Given the description of an element on the screen output the (x, y) to click on. 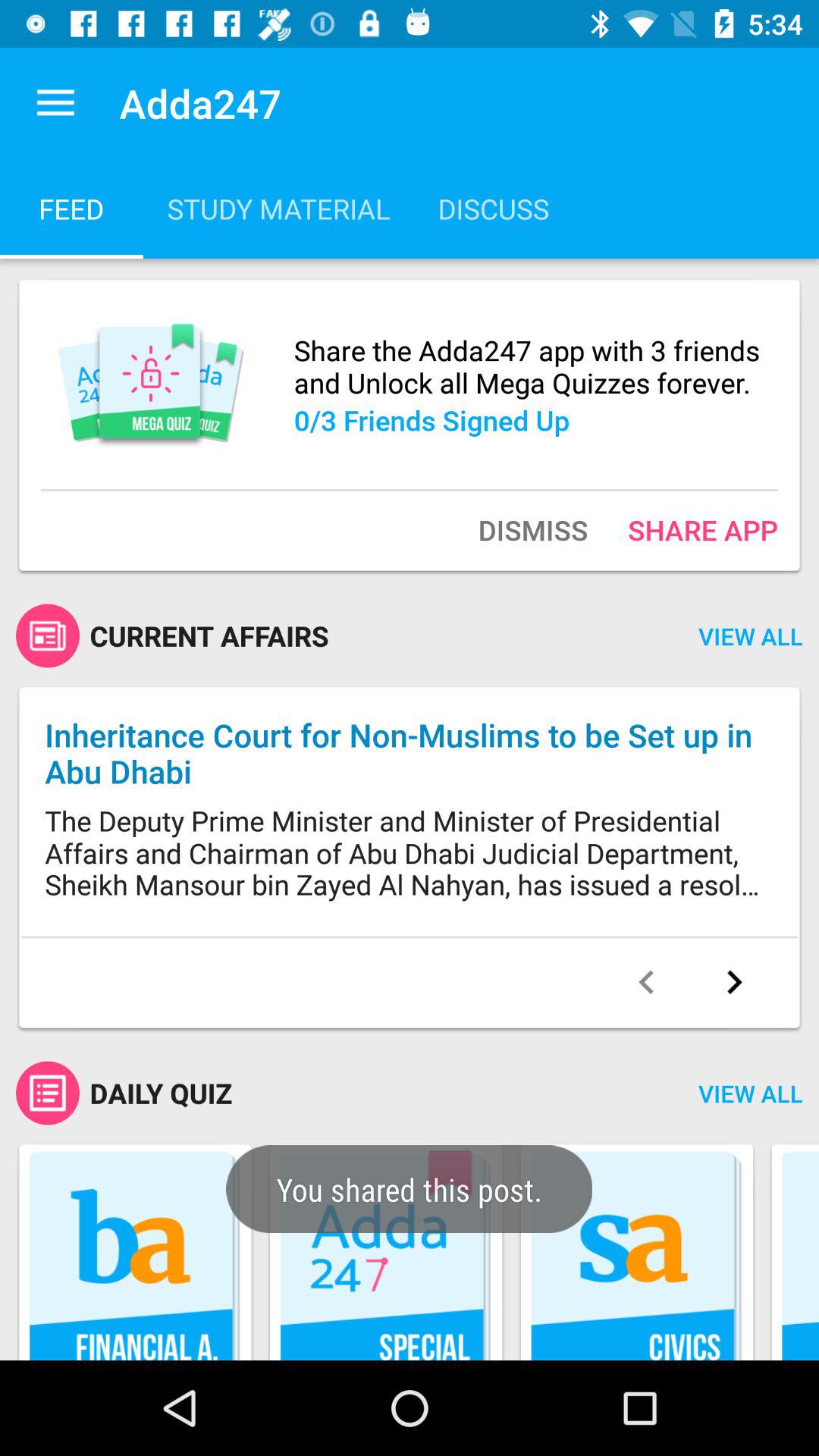
go to previous story (646, 982)
